Given the description of an element on the screen output the (x, y) to click on. 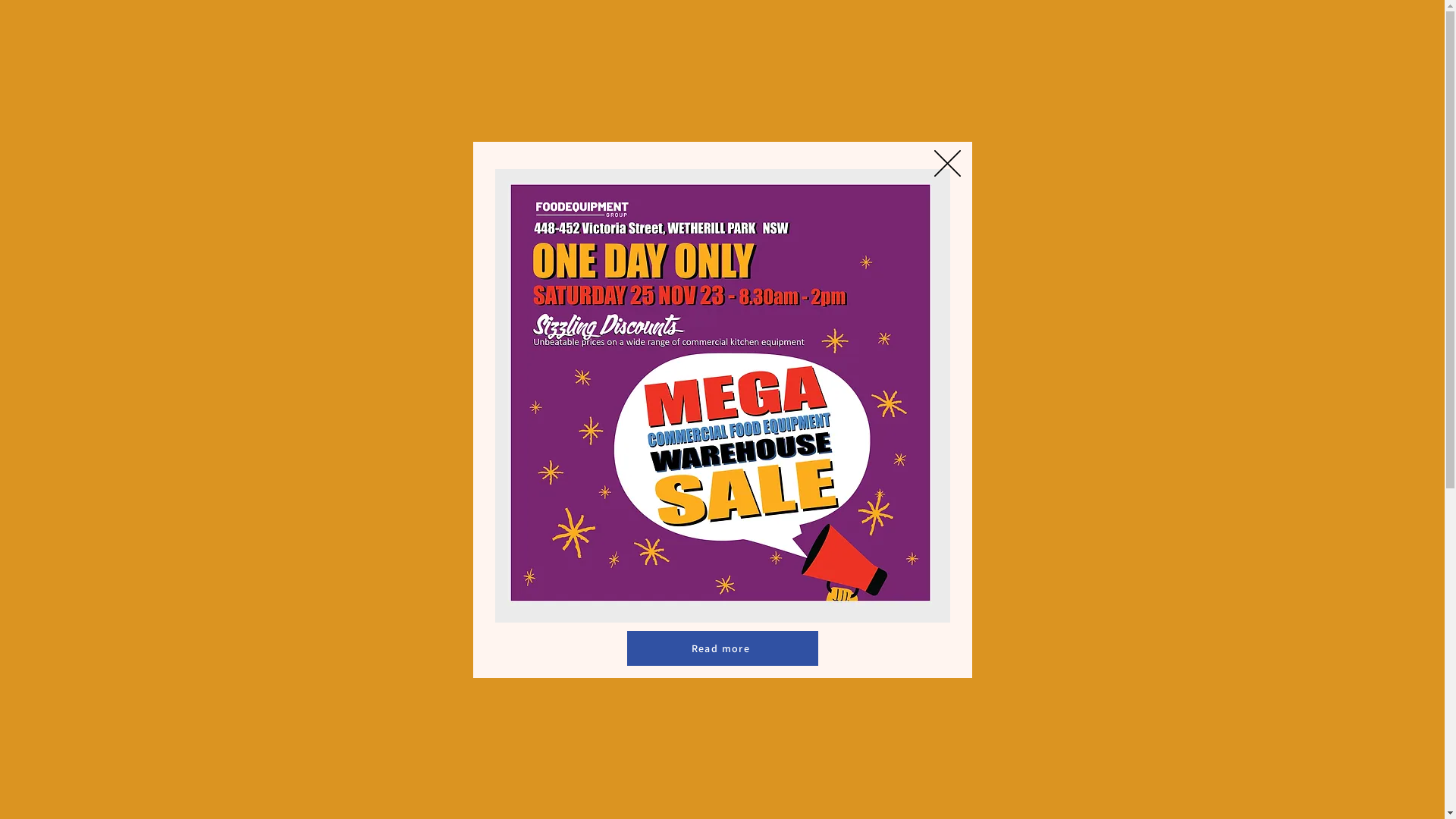
+612 7809 7799 Element type: text (1196, 25)
Home Element type: text (511, 27)
Warehouse Sale Social 25102023.jpg Element type: hover (721, 394)
Read more Element type: text (721, 647)
Warranty Element type: text (709, 27)
H T Barnes Bandsaws Element type: text (179, 446)
Bizerba Element type: text (179, 656)
Cookshack Element type: text (541, 656)
Back to site Element type: hover (947, 163)
SignatureBlock-MegaSale-2023.jpg Element type: hover (713, 203)
FEG Commercial Kitchen Equipment Element type: text (541, 446)
Consumables Element type: text (1264, 656)
Contact Us Element type: text (640, 27)
Smo-King Ovens Element type: text (903, 446)
Grote Company Element type: text (1264, 446)
About Us Element type: text (571, 27)
